Given the description of an element on the screen output the (x, y) to click on. 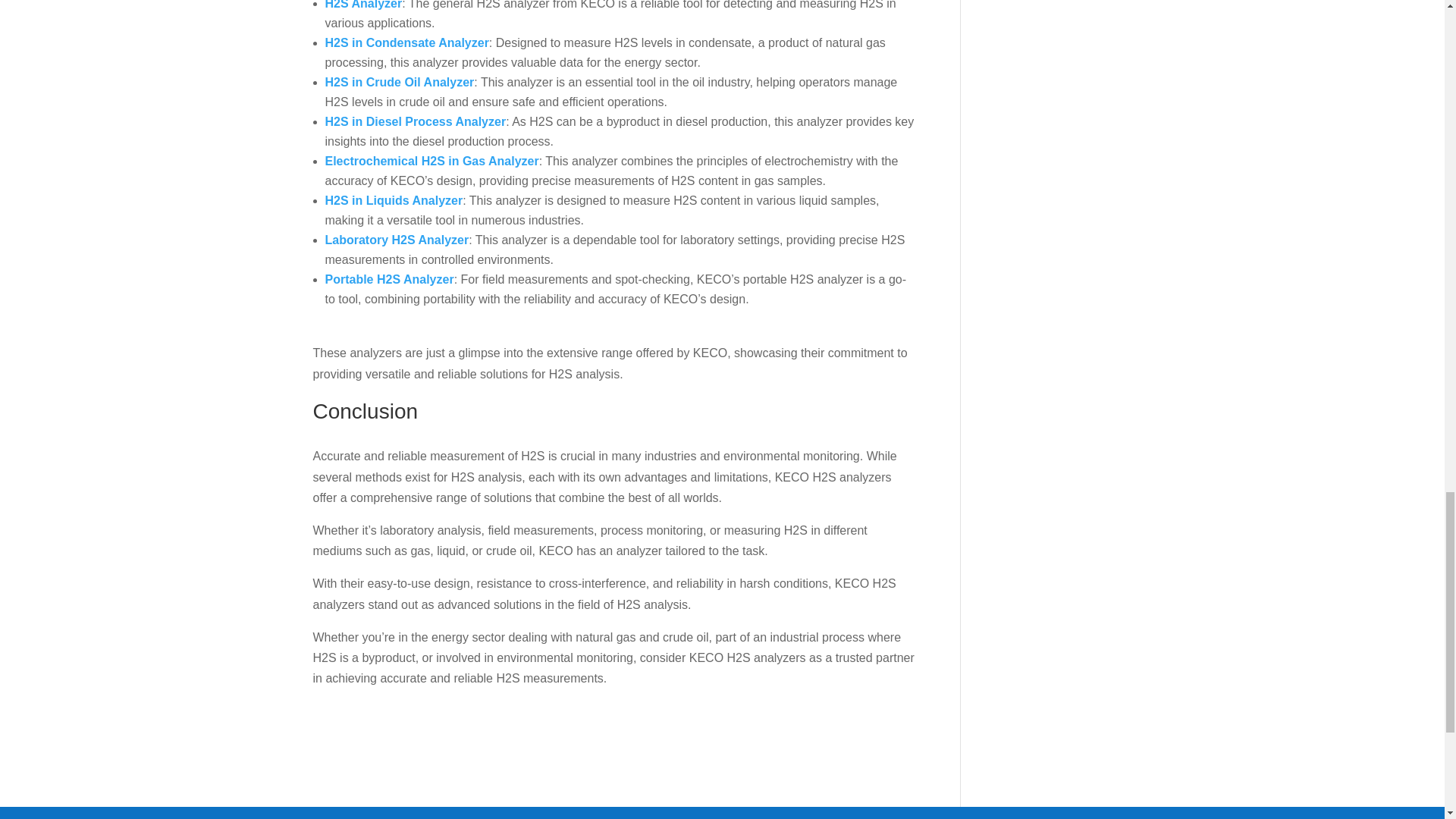
H2S in Diesel Process Analyzer (414, 121)
H2S in Condensate Analyzer (405, 42)
Electrochemical H2S in Gas Analyzer (431, 160)
Laboratory H2S Analyzer (396, 239)
H2S Analyzer (362, 4)
H2S in Crude Oil Analyzer (399, 82)
H2S in Liquids Analyzer (393, 200)
